Given the description of an element on the screen output the (x, y) to click on. 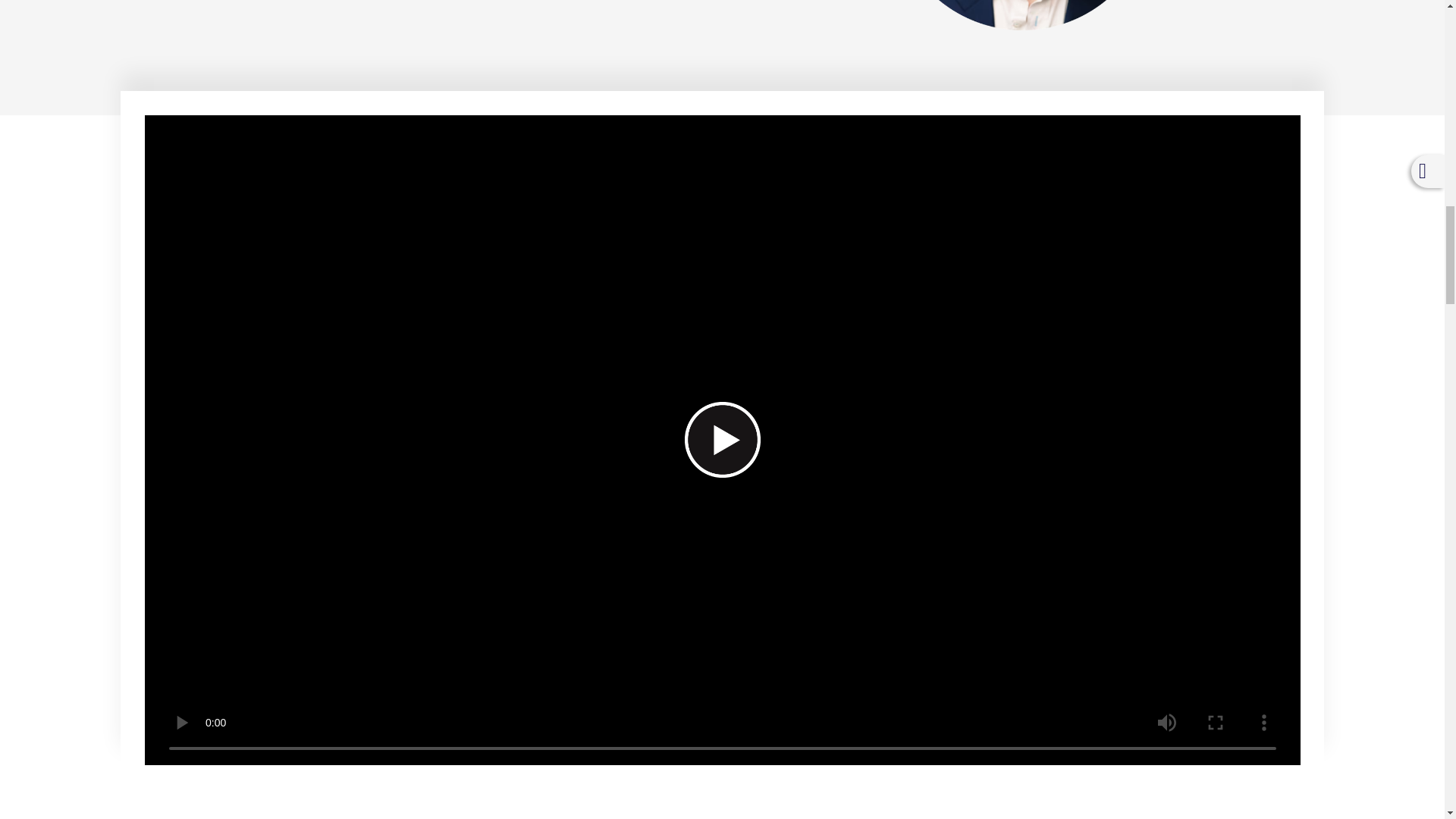
Dr. Daniel Sahlein photo (1021, 15)
